Given the description of an element on the screen output the (x, y) to click on. 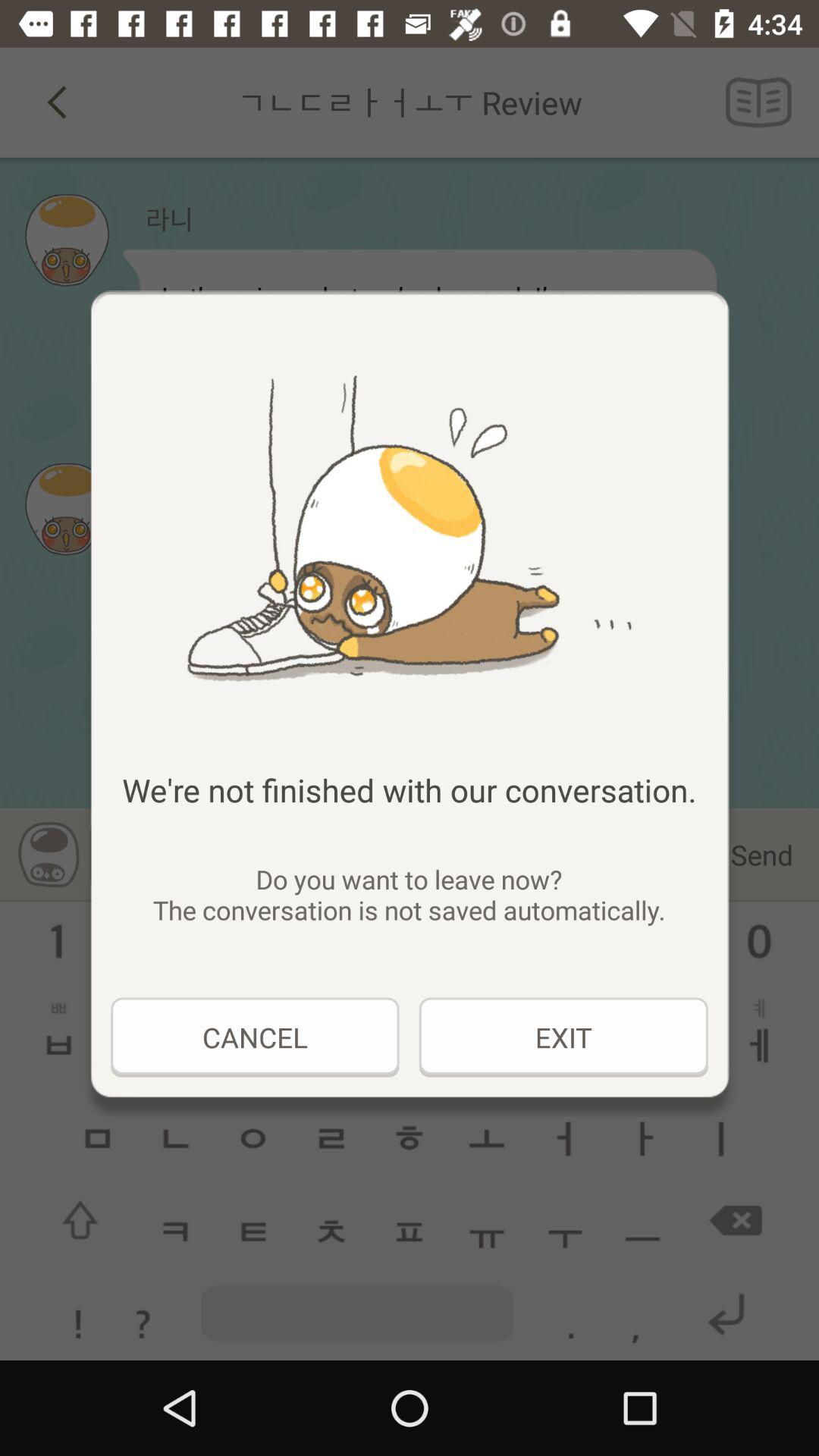
scroll until cancel item (254, 1037)
